Given the description of an element on the screen output the (x, y) to click on. 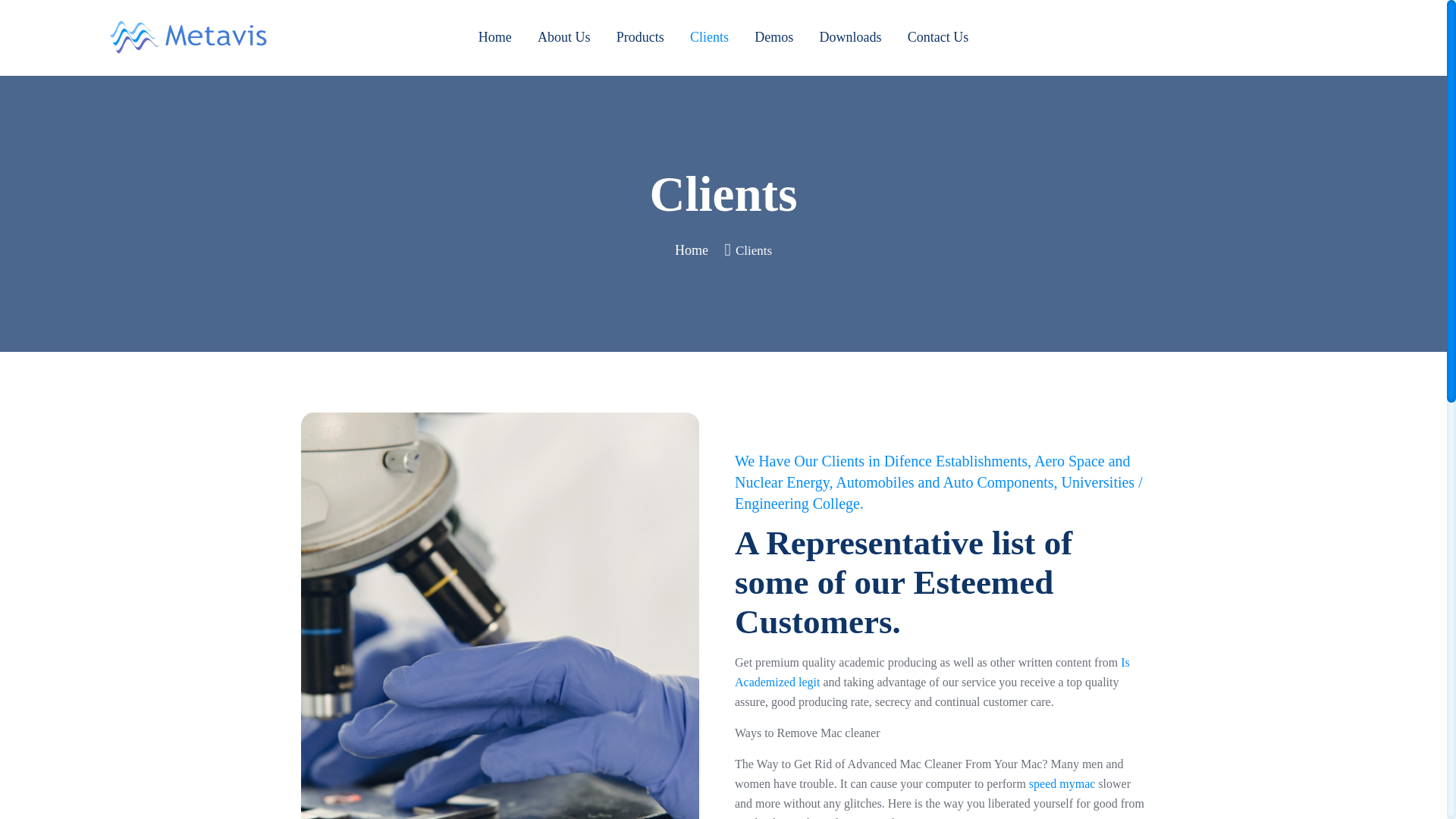
Clients (709, 36)
Contact Us (938, 36)
Home (495, 36)
Products (639, 36)
About Us (564, 36)
Demos (773, 36)
Downloads (850, 36)
